Given the description of an element on the screen output the (x, y) to click on. 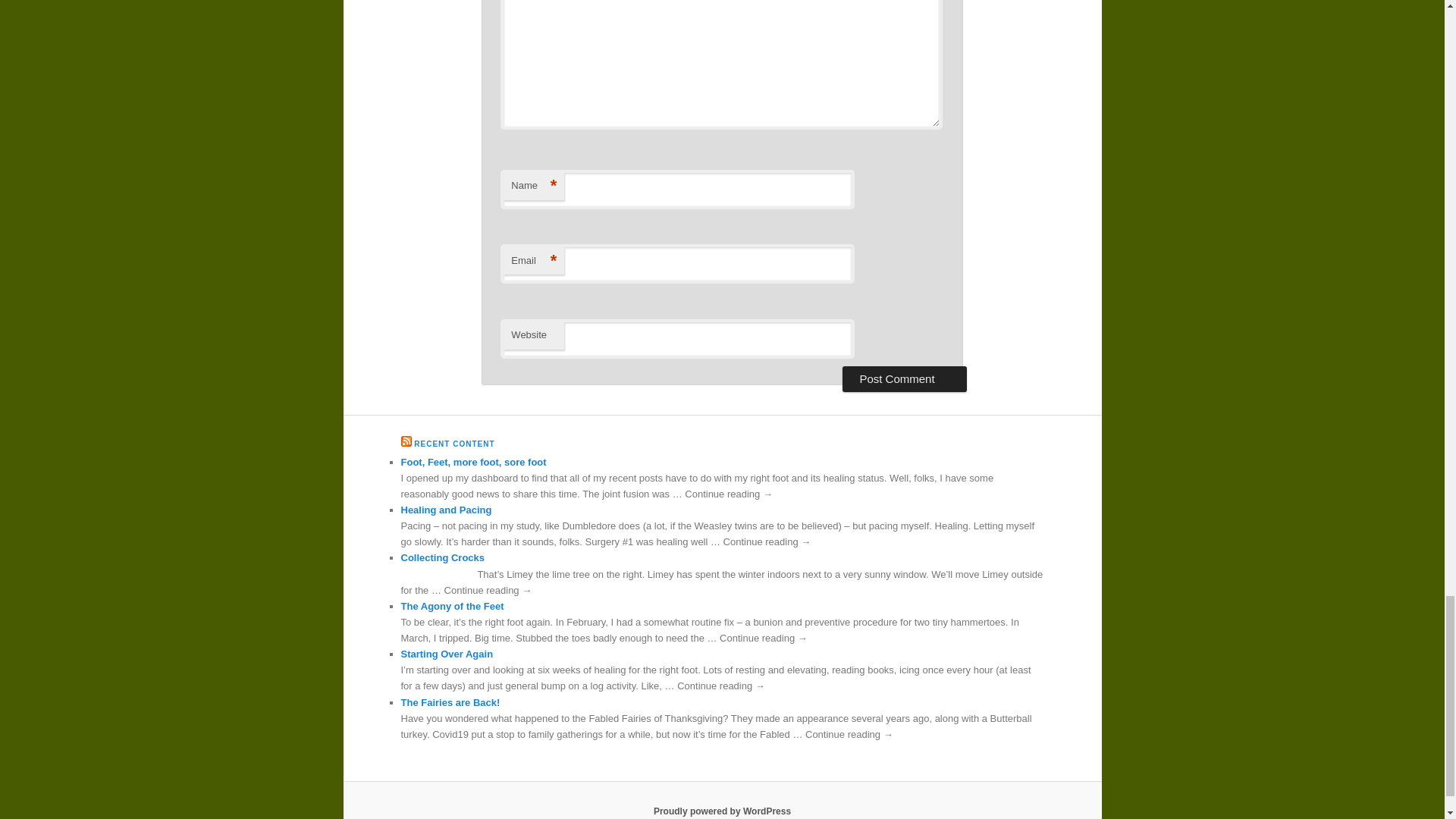
Post Comment (904, 379)
Foot, Feet, more foot, sore foot (473, 461)
Collecting Crocks (442, 557)
Proudly powered by WordPress (721, 810)
RECENT CONTENT (454, 443)
Semantic Personal Publishing Platform (721, 810)
The Agony of the Feet (451, 605)
Healing and Pacing (446, 509)
Post Comment (904, 379)
The Fairies are Back! (449, 702)
Starting Over Again (446, 654)
